Given the description of an element on the screen output the (x, y) to click on. 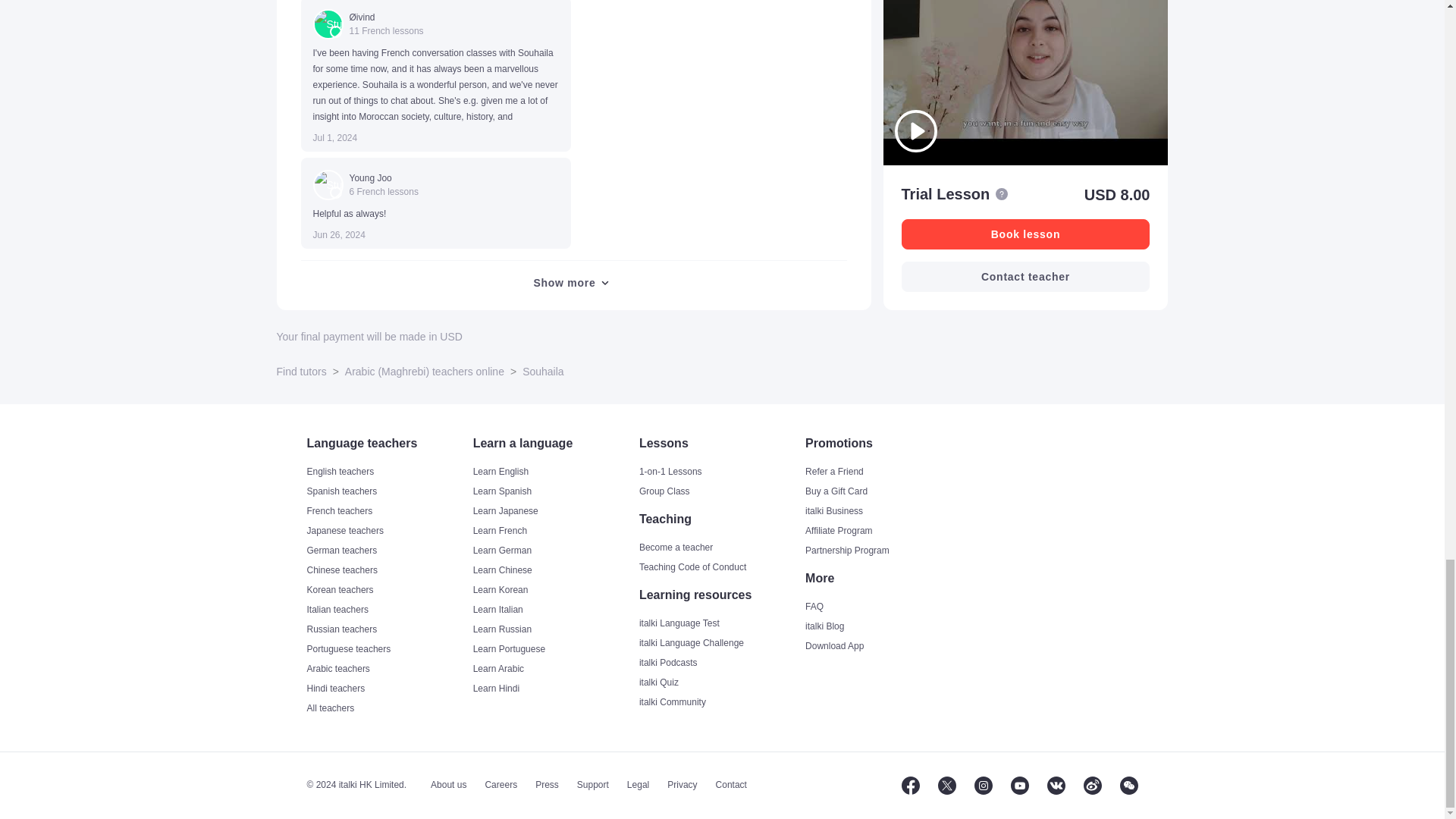
Russian teachers (386, 629)
Korean teachers (386, 590)
French teachers (386, 510)
German teachers (386, 550)
Japanese teachers (386, 530)
Arabic teachers (386, 668)
Italian teachers (386, 609)
Learn Italian (554, 609)
Spanish teachers (386, 490)
Learn French (554, 530)
